Given the description of an element on the screen output the (x, y) to click on. 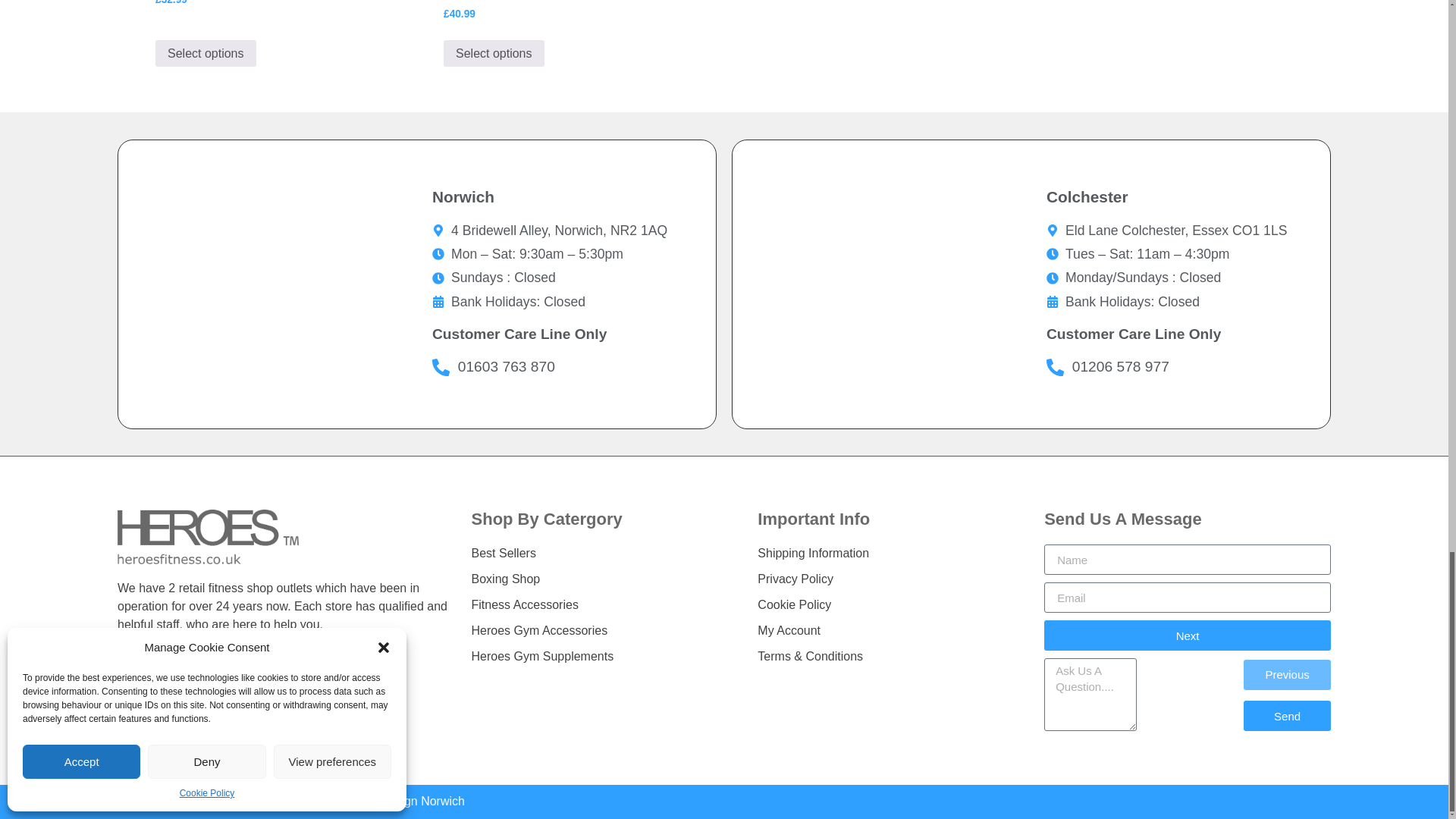
heroes fitness, Colchester (881, 284)
heroes fitness, Norwich (266, 284)
